Given the description of an element on the screen output the (x, y) to click on. 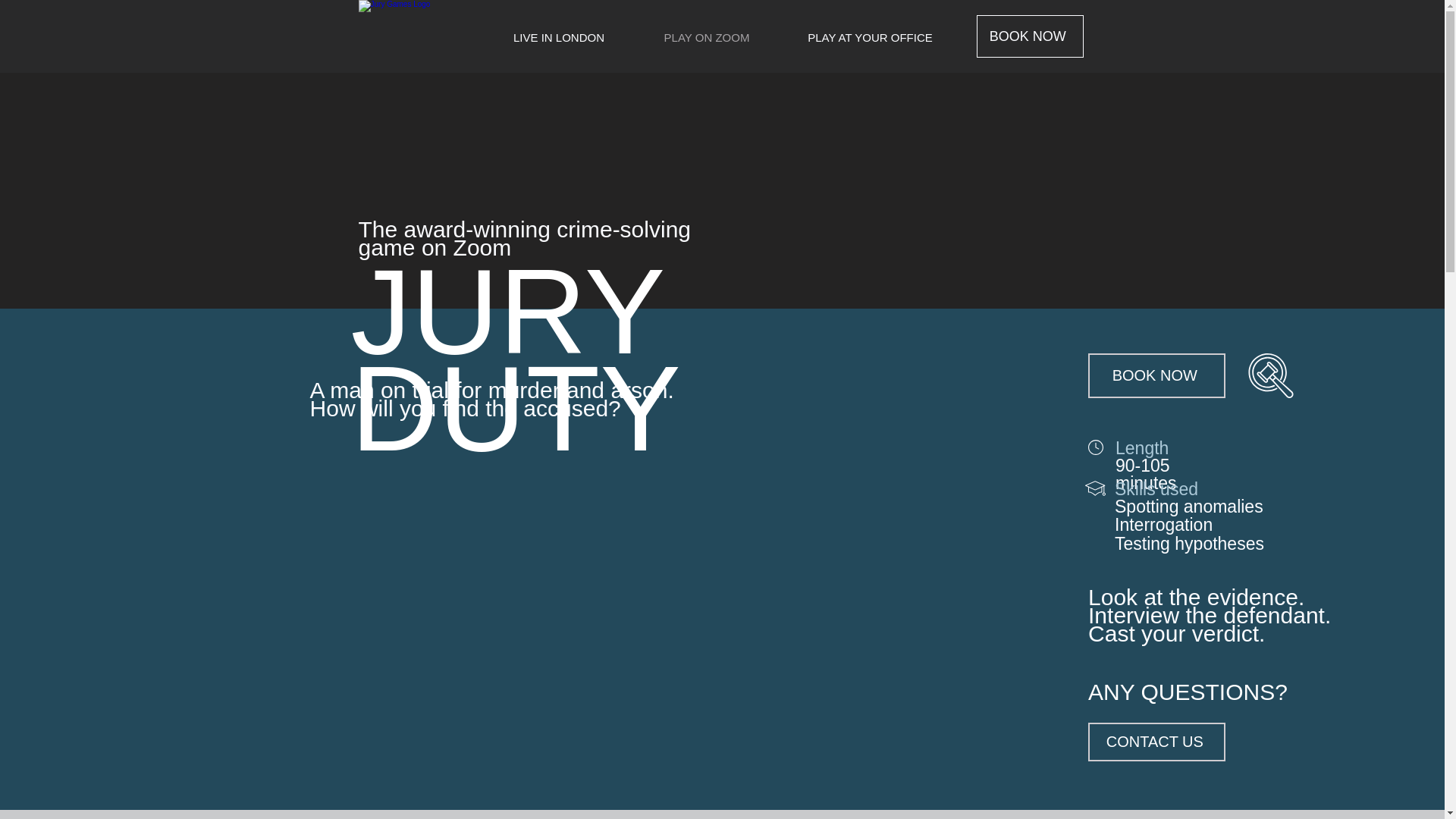
BOOK NOW (1029, 36)
PLAY AT YOUR OFFICE (869, 37)
CONTACT US (1156, 741)
BOOK NOW (1156, 375)
PLAY ON ZOOM (705, 37)
